Given the description of an element on the screen output the (x, y) to click on. 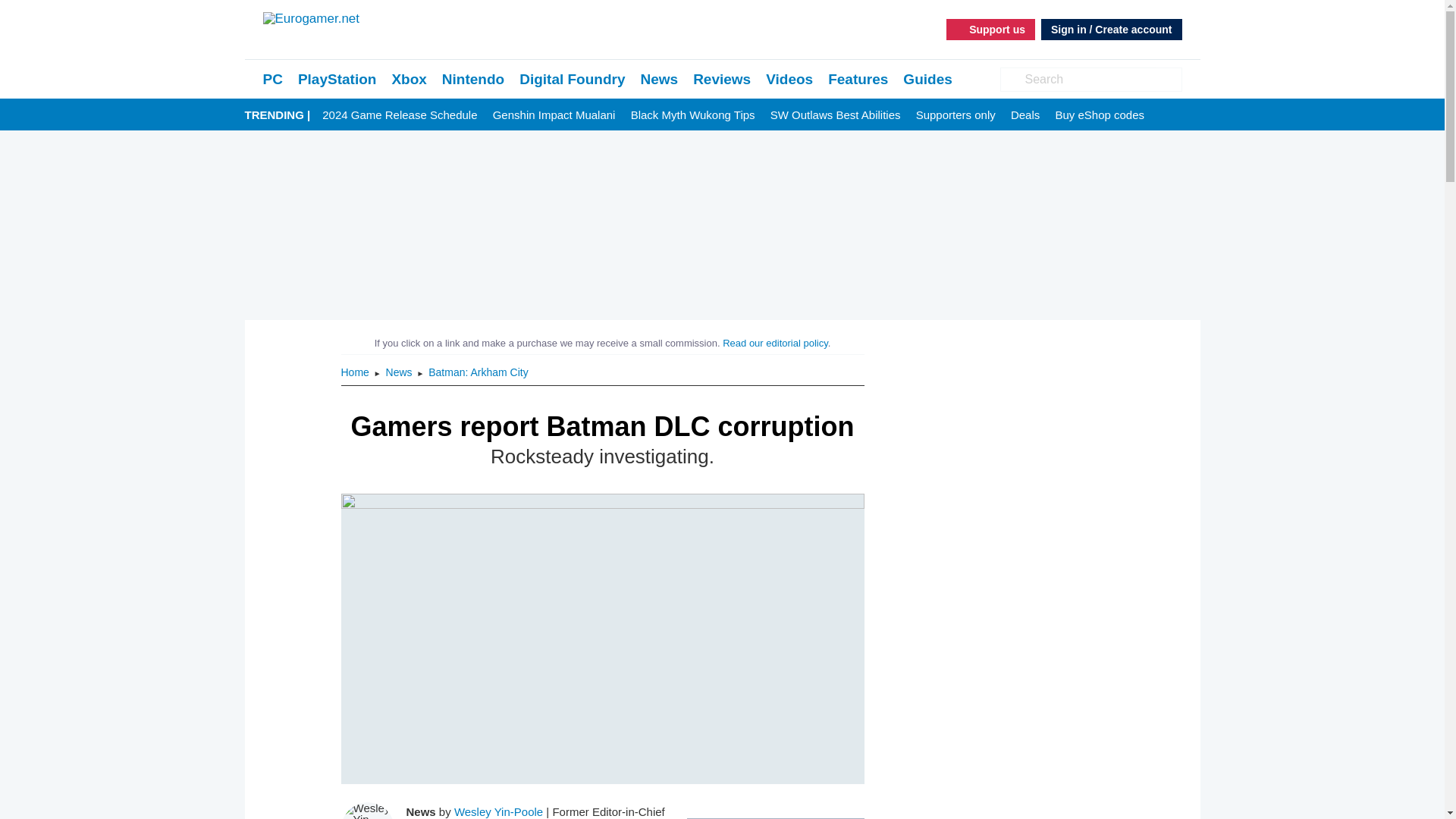
2024 Game Release Schedule (399, 114)
2024 Game Release Schedule (399, 114)
SW Outlaws Best Abilities (835, 114)
Supporters only (955, 114)
Xbox (408, 78)
Reviews (722, 78)
Batman: Arkham City (478, 372)
Videos (788, 78)
Buy eShop codes (1099, 114)
PlayStation (336, 78)
